Given the description of an element on the screen output the (x, y) to click on. 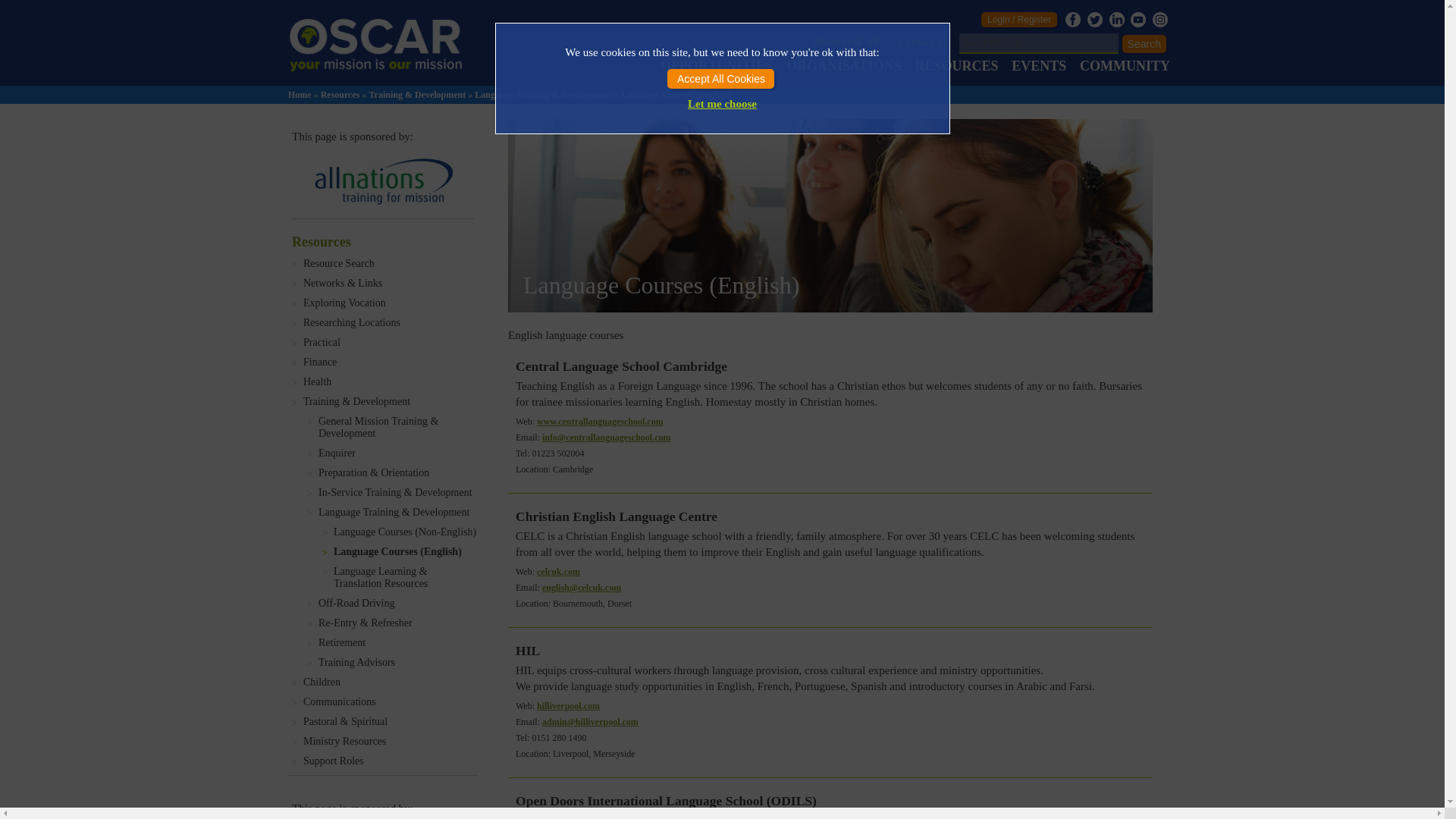
Oscar on LinkedIn (1116, 19)
Finance (389, 362)
Practical (389, 342)
Resource Search (389, 263)
RESOURCES (955, 65)
ORGANISATIONS (843, 65)
Health (389, 381)
Contact Us (923, 41)
OPPORTUNITIES (717, 65)
Oscar on YouTube (1138, 19)
EVENTS (1038, 65)
Oscar on Instagram (1160, 19)
Search (1144, 44)
Search (1144, 44)
Oscar on Twitter (1094, 19)
